Given the description of an element on the screen output the (x, y) to click on. 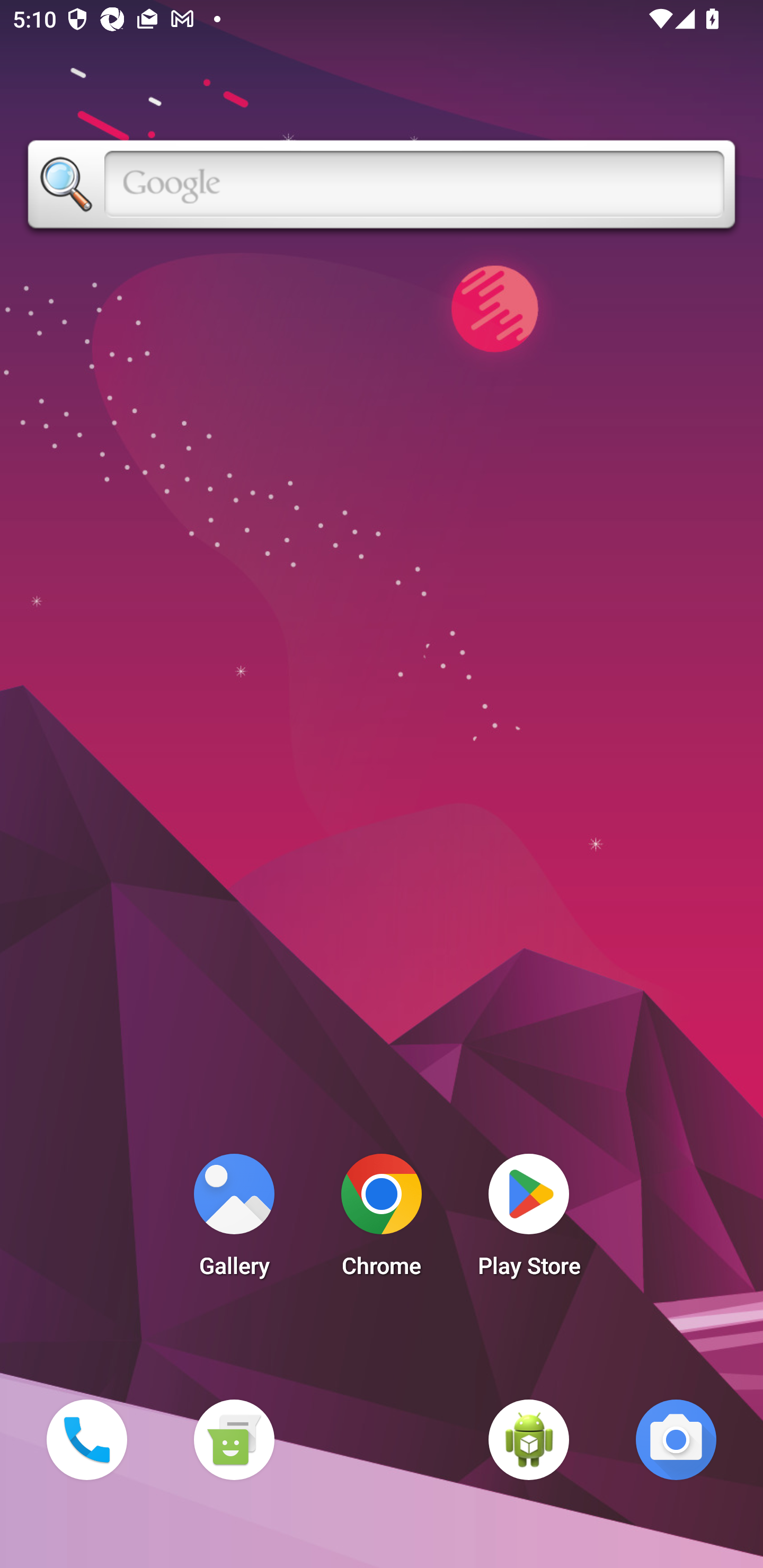
Gallery (233, 1220)
Chrome (381, 1220)
Play Store (528, 1220)
Phone (86, 1439)
Messaging (233, 1439)
WebView Browser Tester (528, 1439)
Camera (676, 1439)
